Given the description of an element on the screen output the (x, y) to click on. 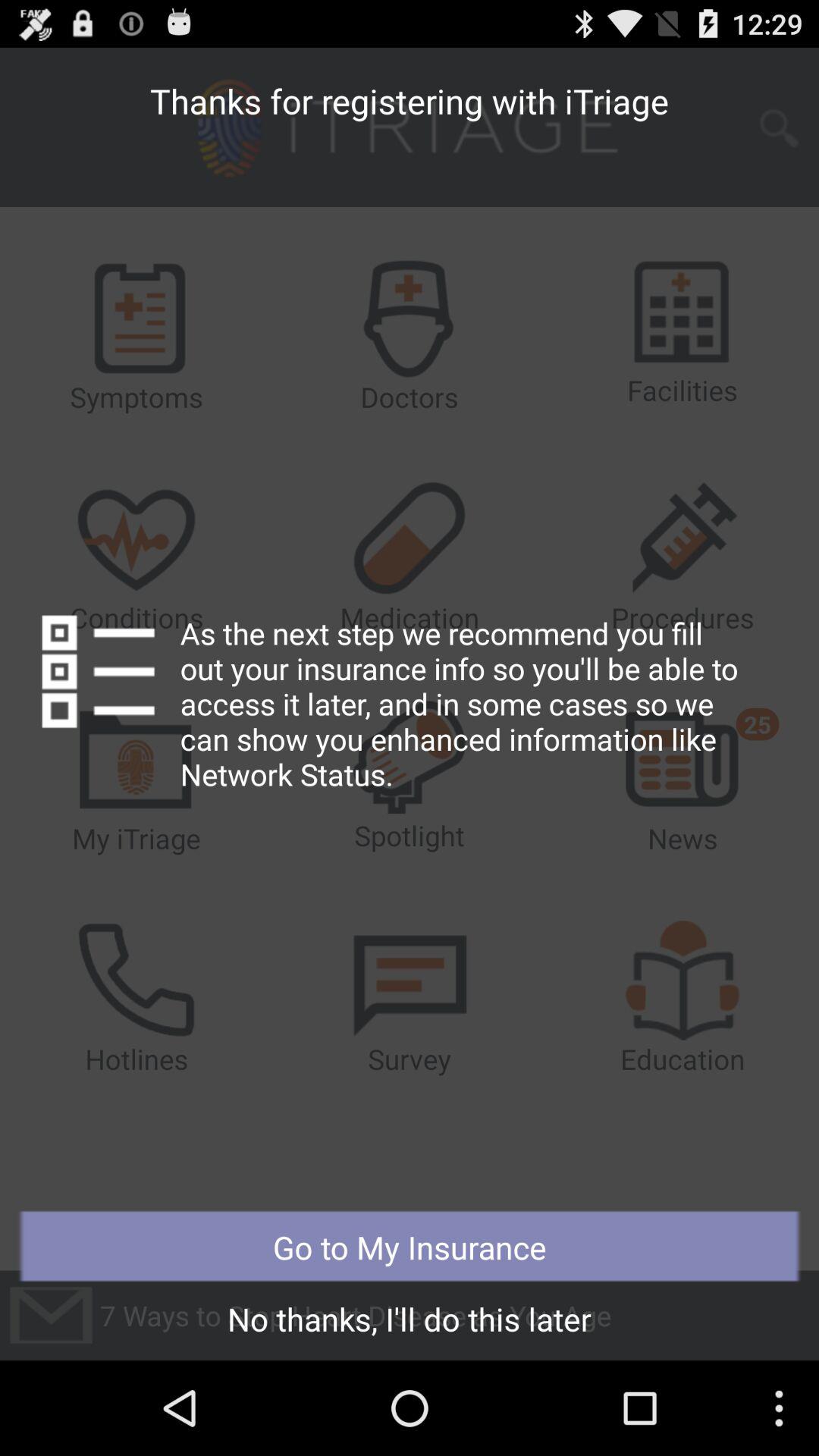
select item below the as the next icon (409, 1247)
